Given the description of an element on the screen output the (x, y) to click on. 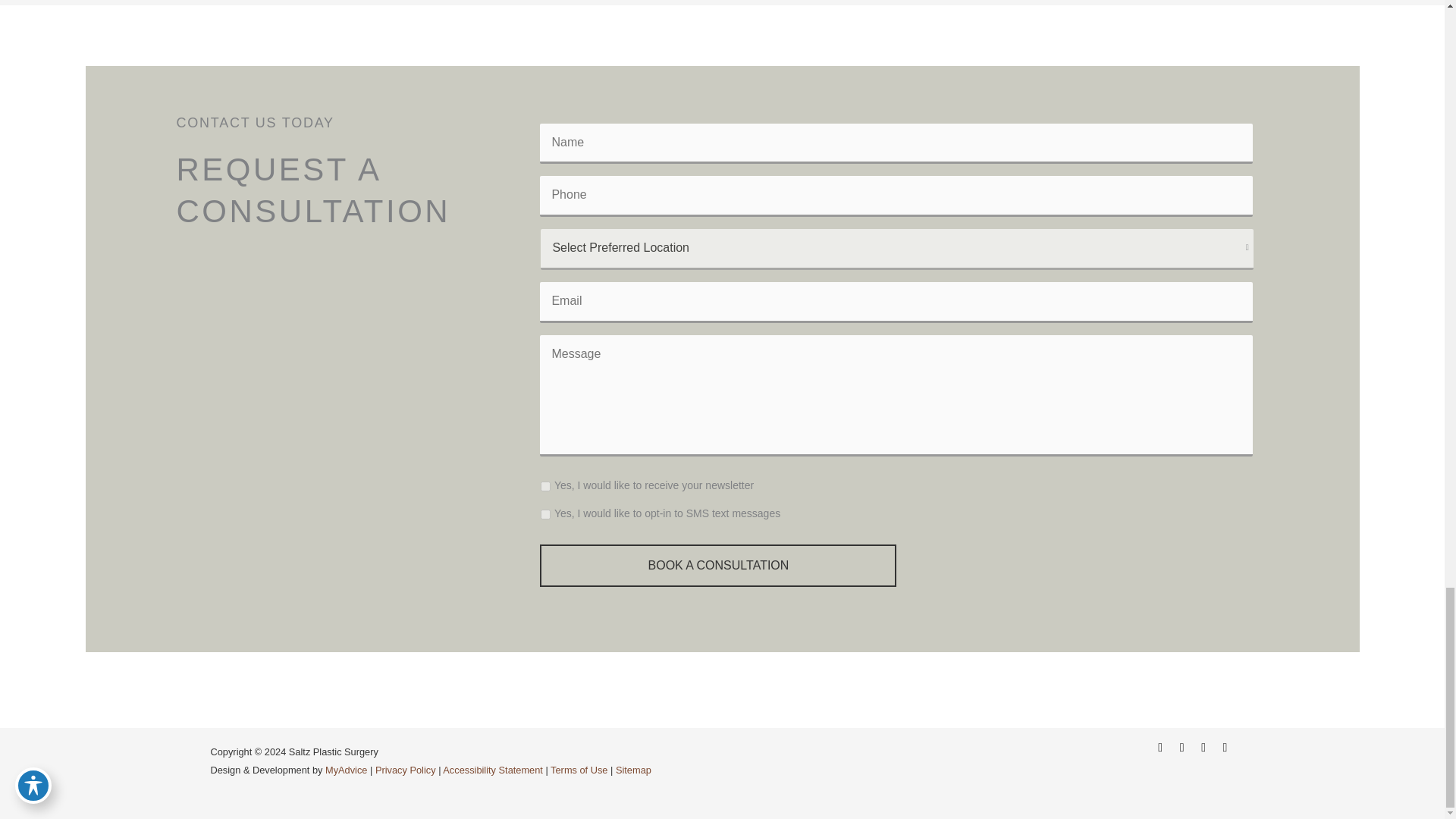
BOOK A CONSULTATION (718, 565)
Yes, I would like to receive your newsletter (545, 486)
Yes, I would like to opt-in to SMS text messages (545, 514)
